Given the description of an element on the screen output the (x, y) to click on. 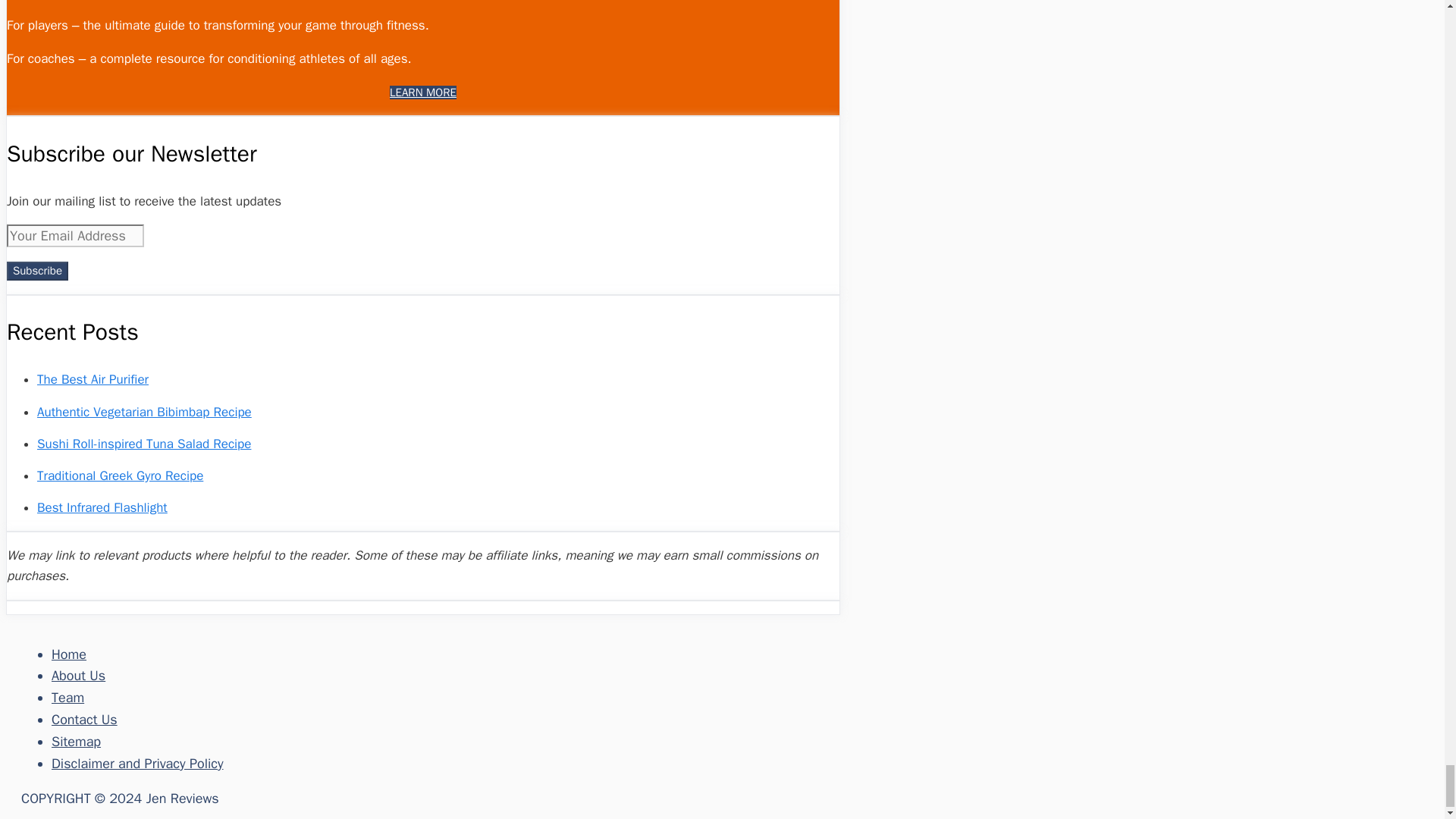
Subscribe (37, 270)
